Given the description of an element on the screen output the (x, y) to click on. 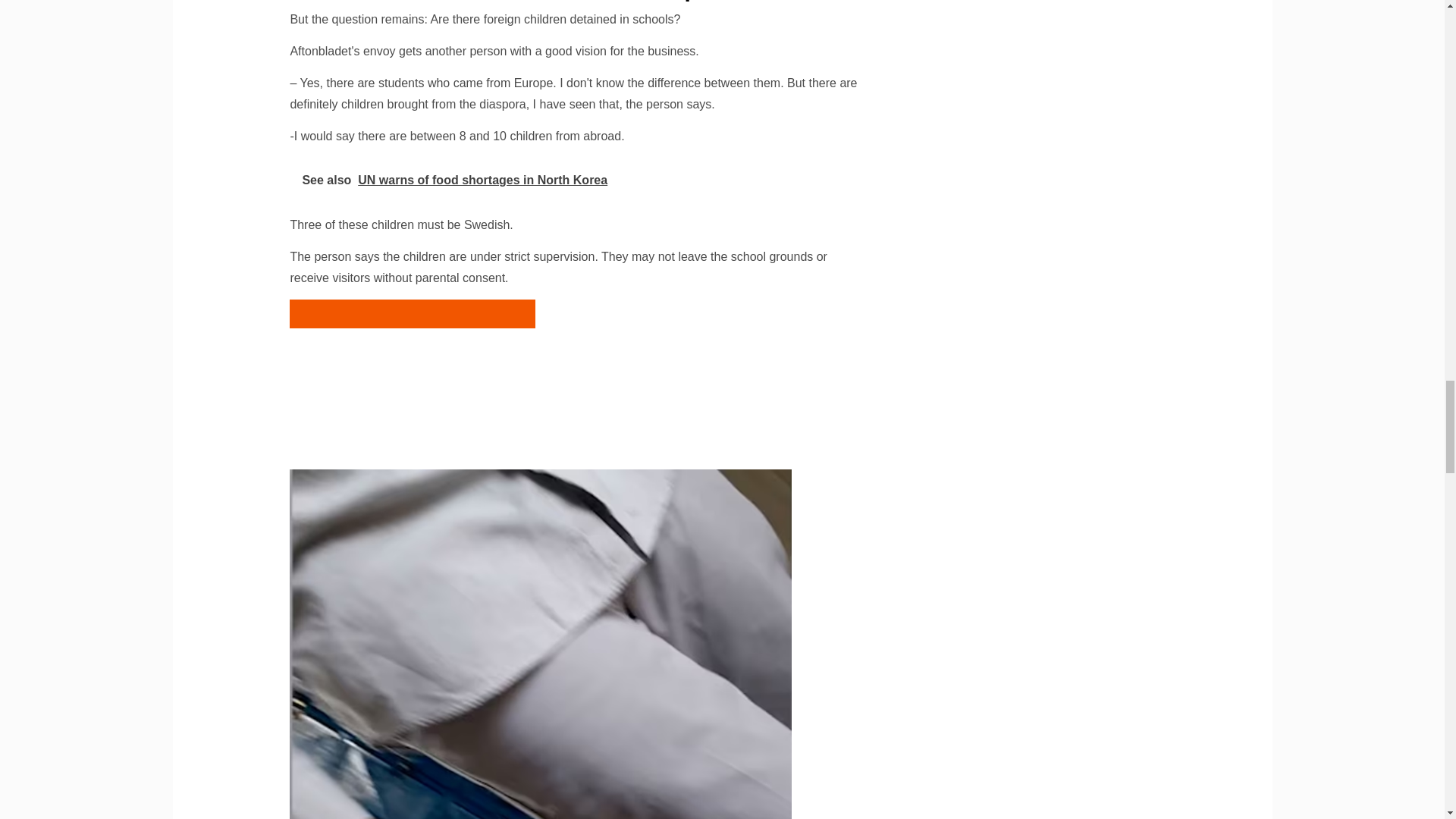
Expand left (412, 313)
See also  UN warns of food shortages in North Korea (411, 371)
